Given the description of an element on the screen output the (x, y) to click on. 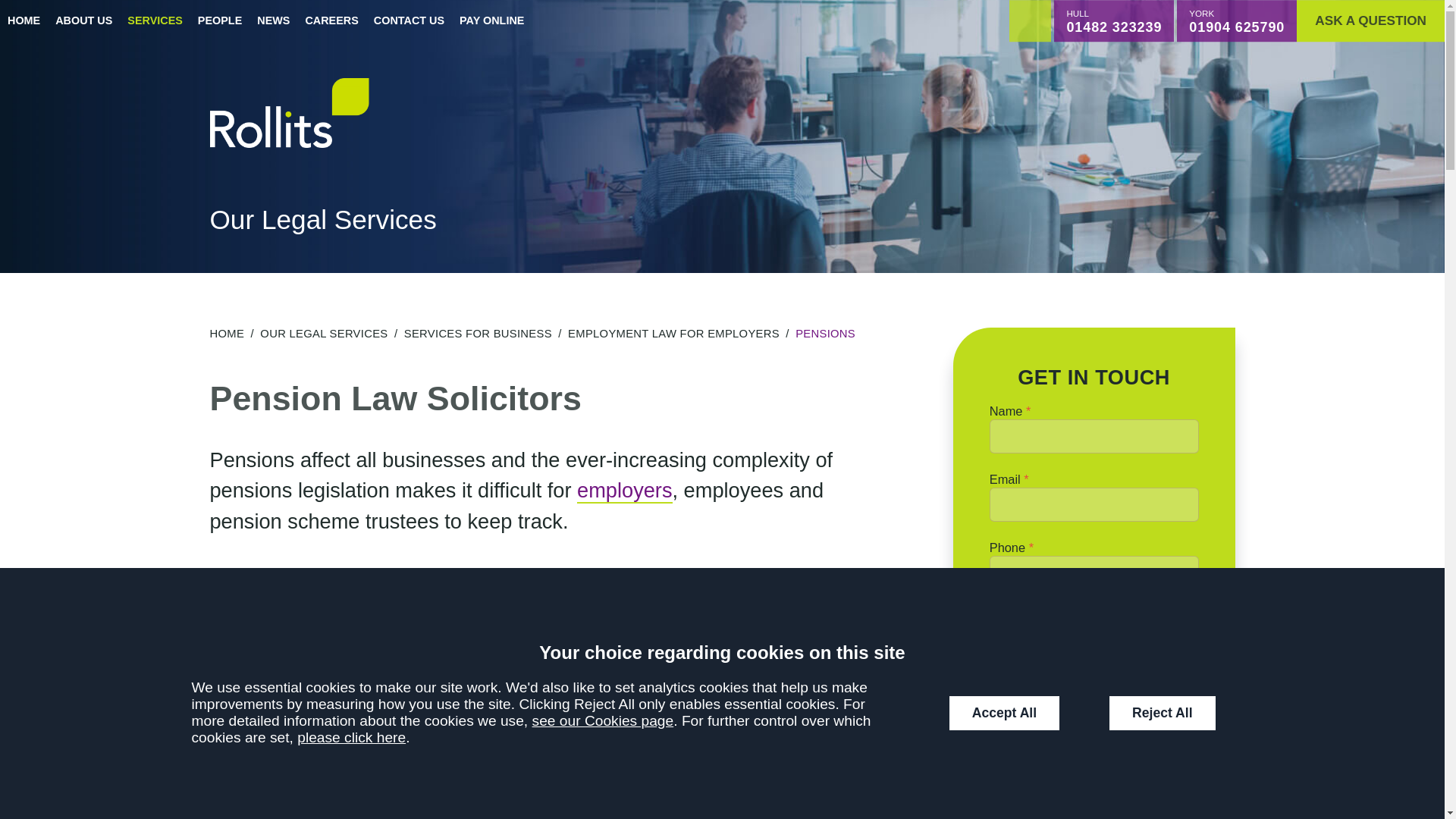
SERVICES FOR BUSINESS (477, 333)
01904 625790 (1236, 27)
SERVICES (154, 20)
employers (623, 490)
01482 323239 (1113, 27)
PEOPLE (219, 20)
OUR LEGAL SERVICES (323, 333)
HOME (24, 20)
HOME (226, 333)
CONTACT US (408, 20)
NEWS (272, 20)
PAY ONLINE (491, 20)
ABOUT US (83, 20)
Send question (1093, 627)
